Given the description of an element on the screen output the (x, y) to click on. 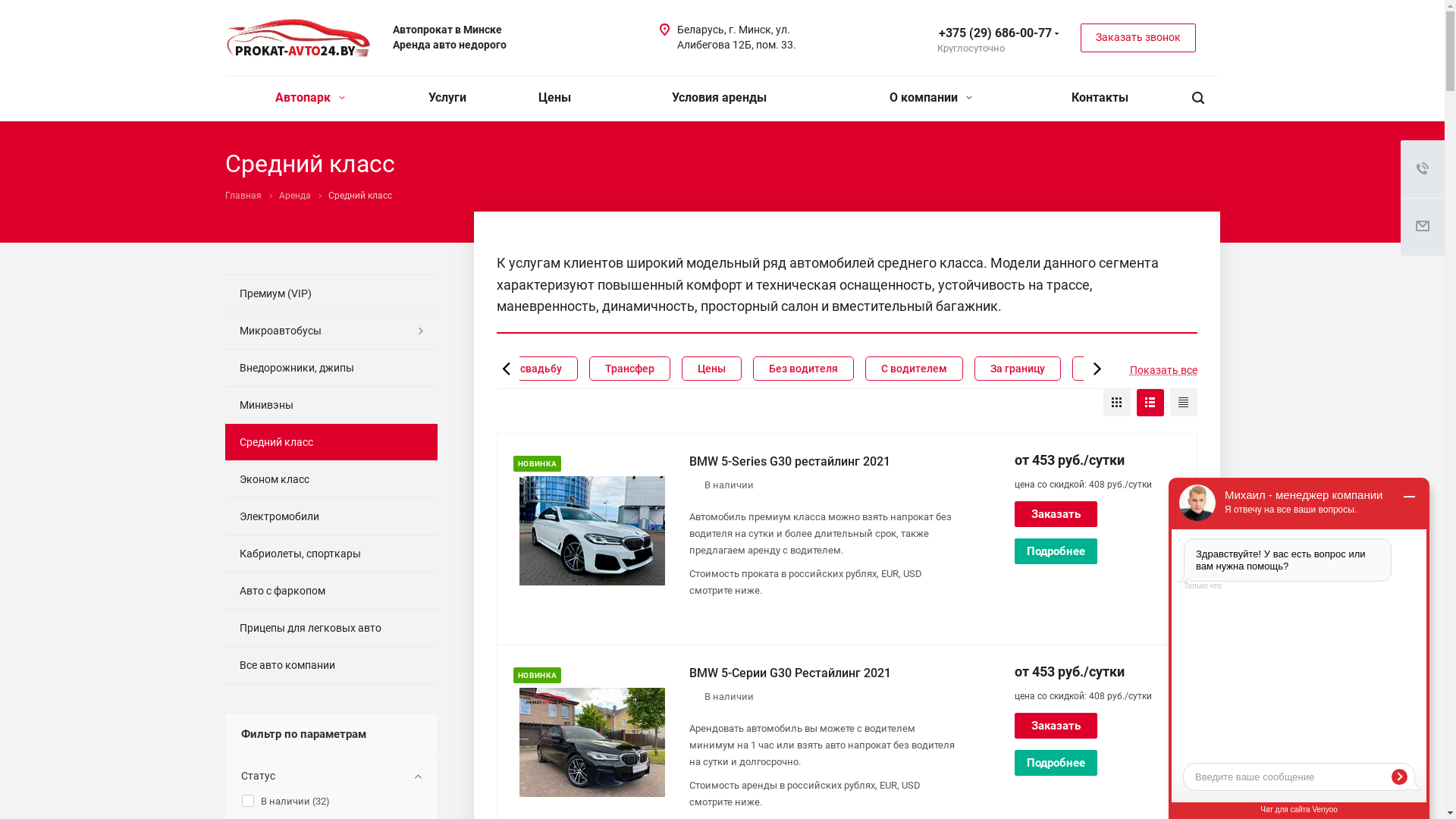
Y Element type: text (4, 4)
Viber Element type: hover (889, 36)
Next Element type: text (1097, 368)
Previous Element type: text (505, 368)
+375 (29) 686-00-77 Element type: text (985, 32)
WhatsApp Element type: hover (847, 36)
